Given the description of an element on the screen output the (x, y) to click on. 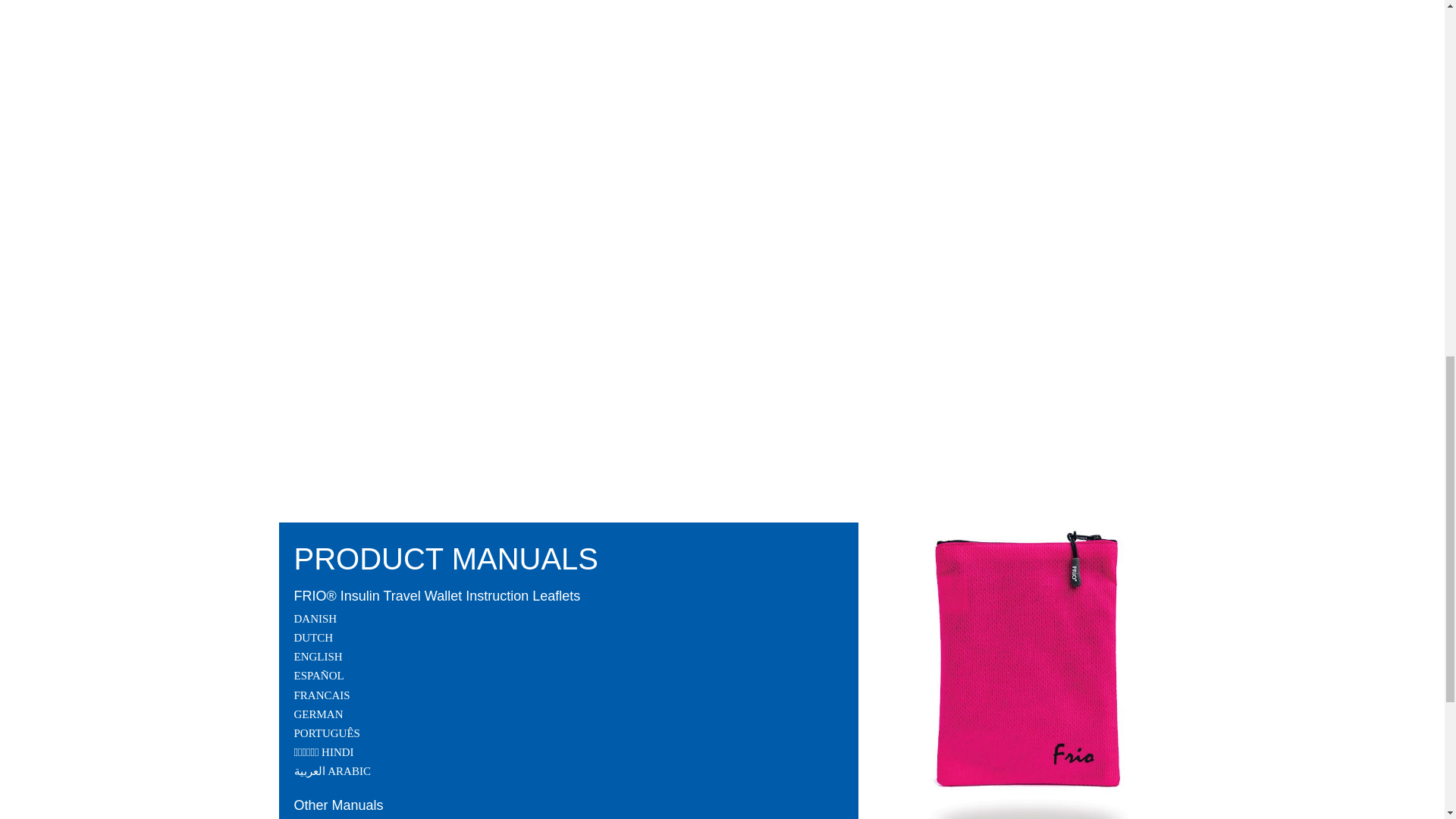
vimeo244853710 (521, 338)
vimeo244853825 (521, 96)
